Given the description of an element on the screen output the (x, y) to click on. 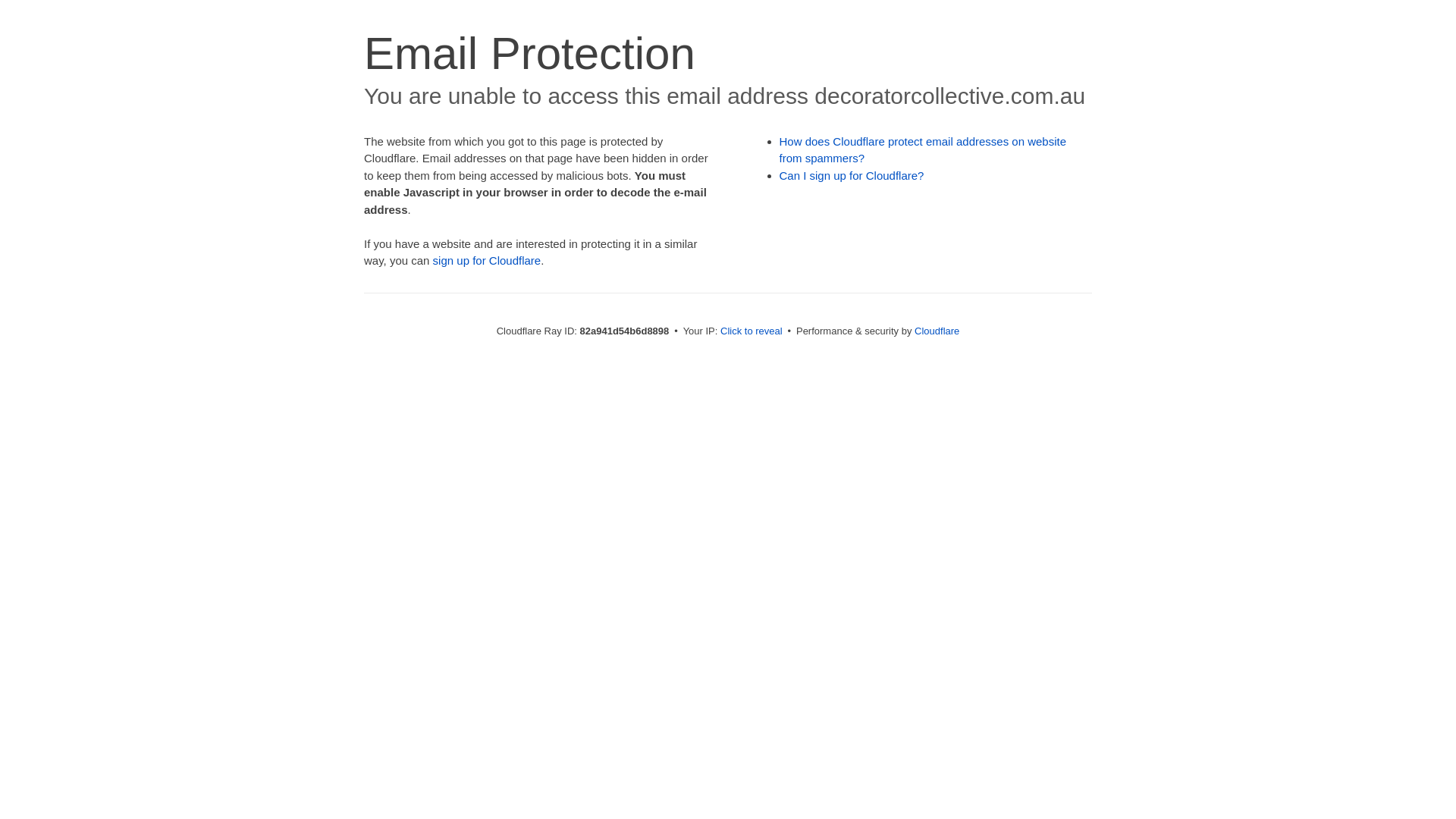
Click to reveal Element type: text (751, 330)
sign up for Cloudflare Element type: text (487, 260)
Can I sign up for Cloudflare? Element type: text (851, 175)
Cloudflare Element type: text (936, 330)
